Given the description of an element on the screen output the (x, y) to click on. 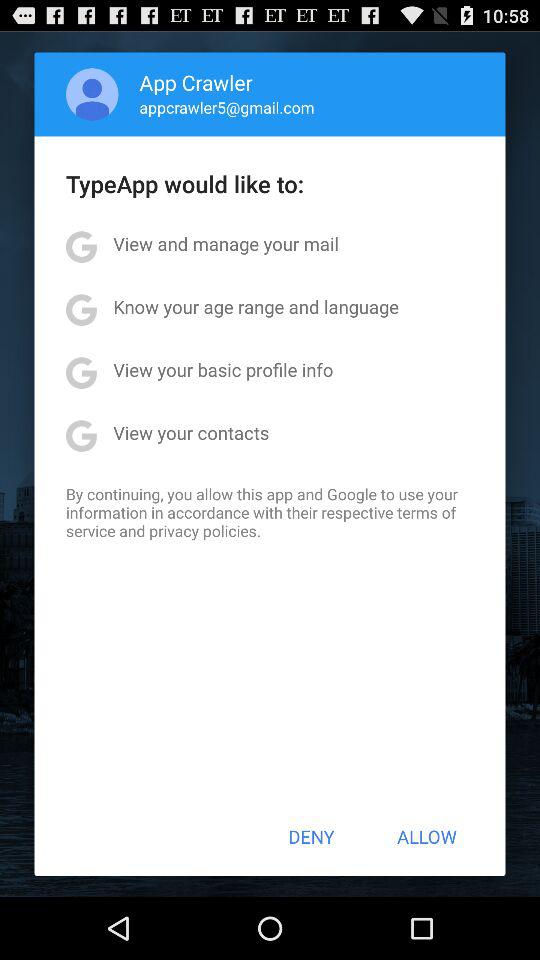
jump to the view and manage item (225, 243)
